Given the description of an element on the screen output the (x, y) to click on. 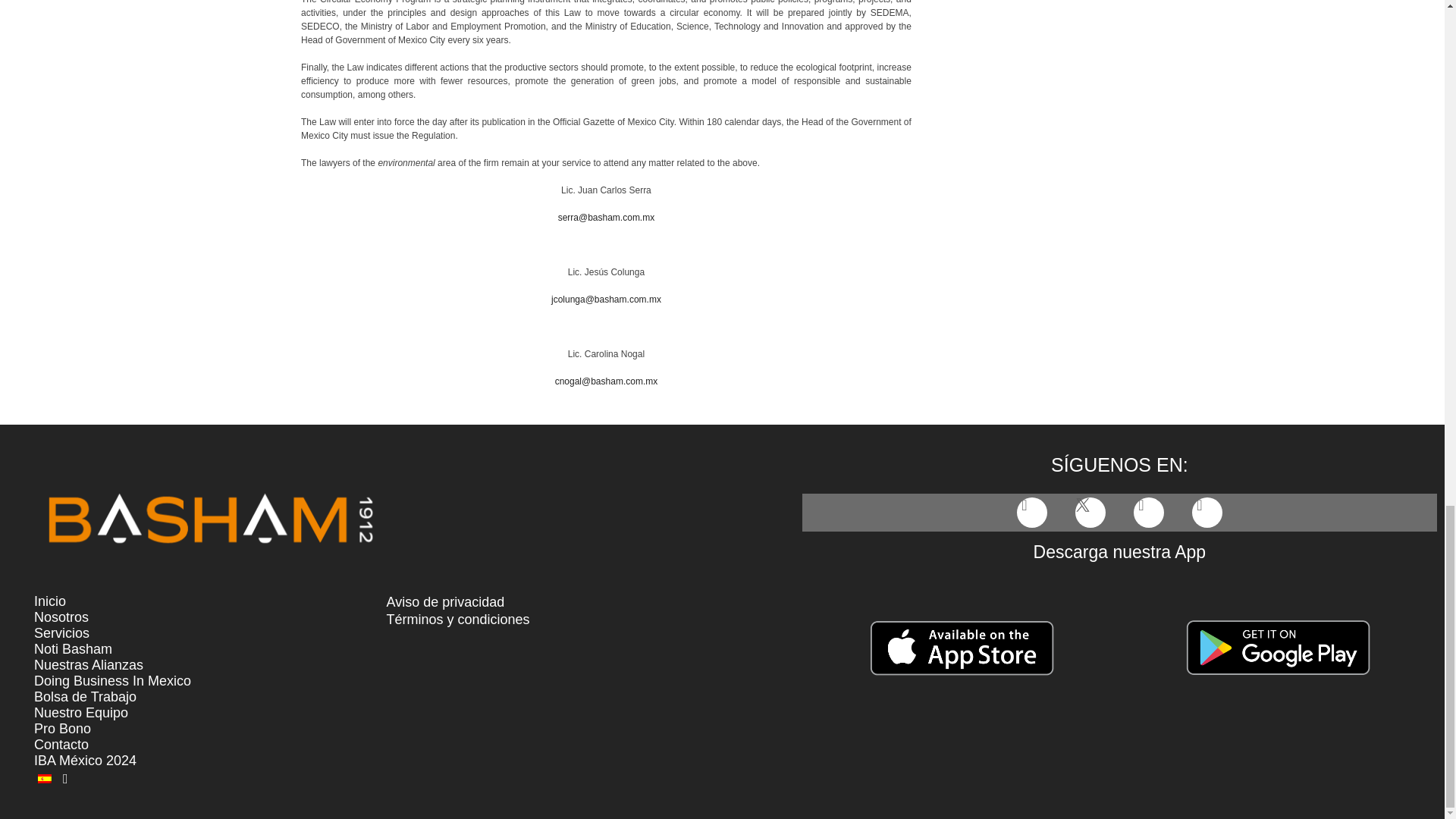
Spanish (43, 777)
